Given the description of an element on the screen output the (x, y) to click on. 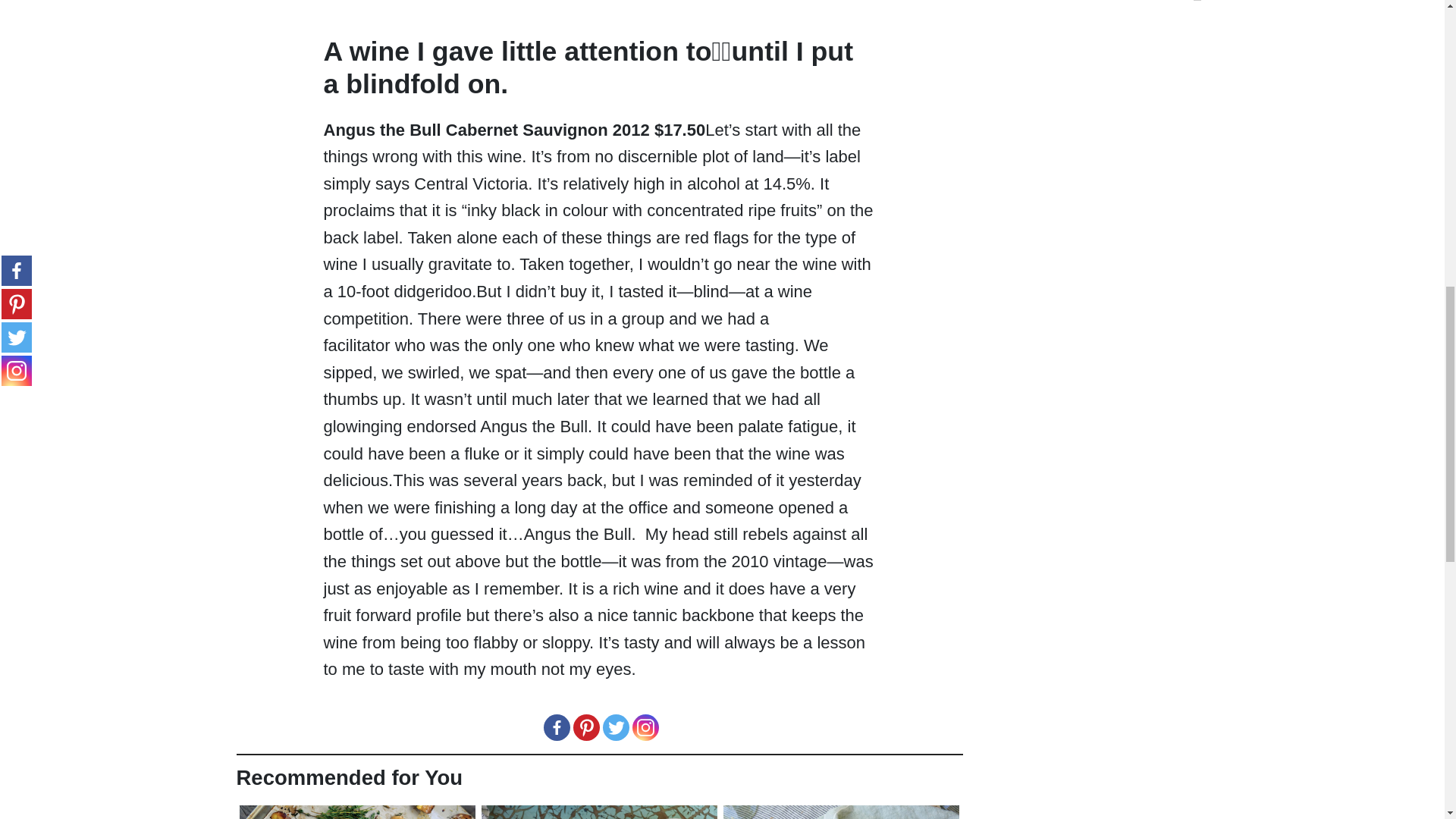
Pinterest (586, 727)
Instagram (645, 727)
Facebook (556, 727)
Twitter (615, 727)
